Given the description of an element on the screen output the (x, y) to click on. 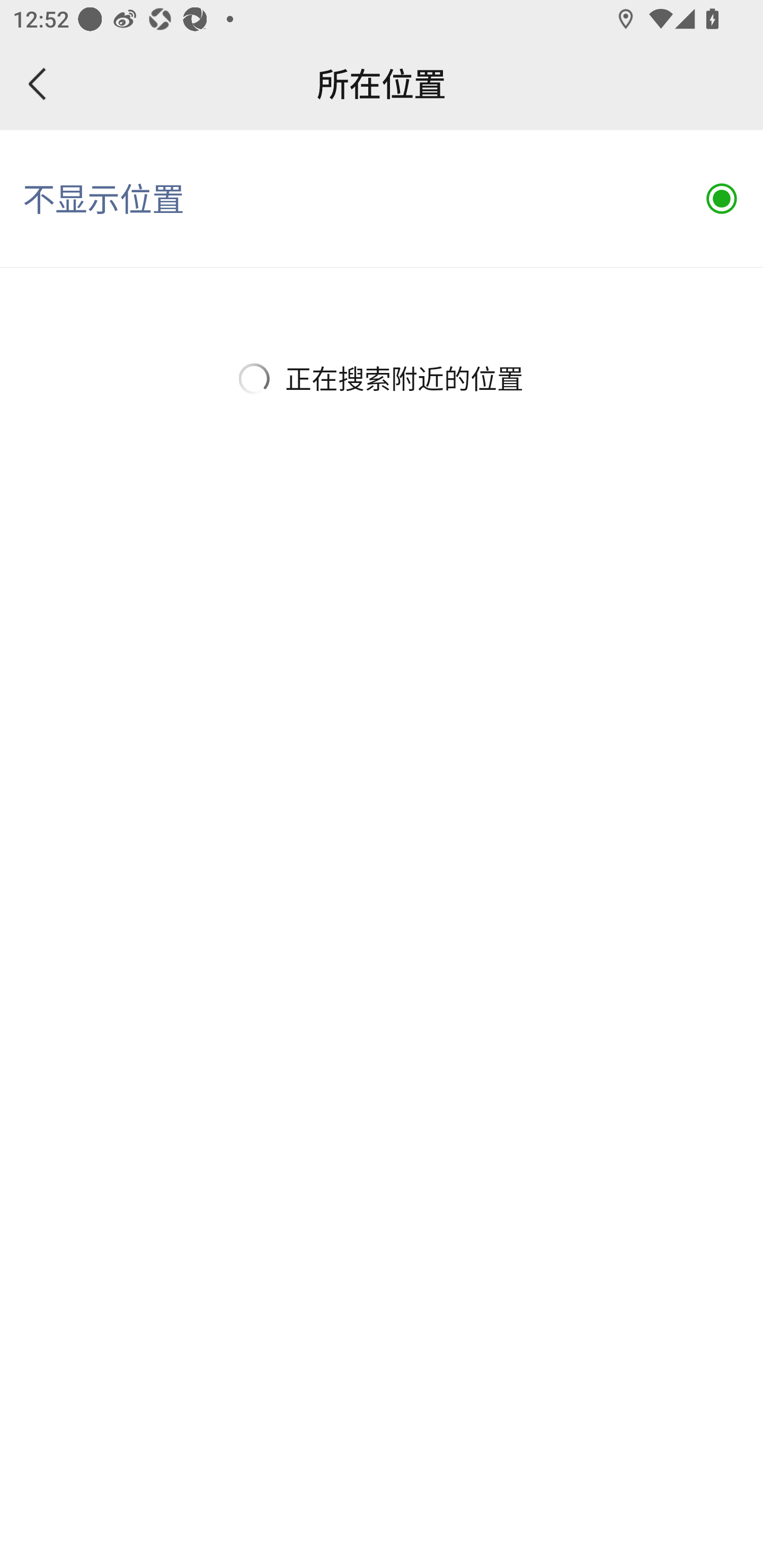
返回 (38, 83)
不显示位置 (381, 199)
正在搜索附近的位置 (381, 378)
